Given the description of an element on the screen output the (x, y) to click on. 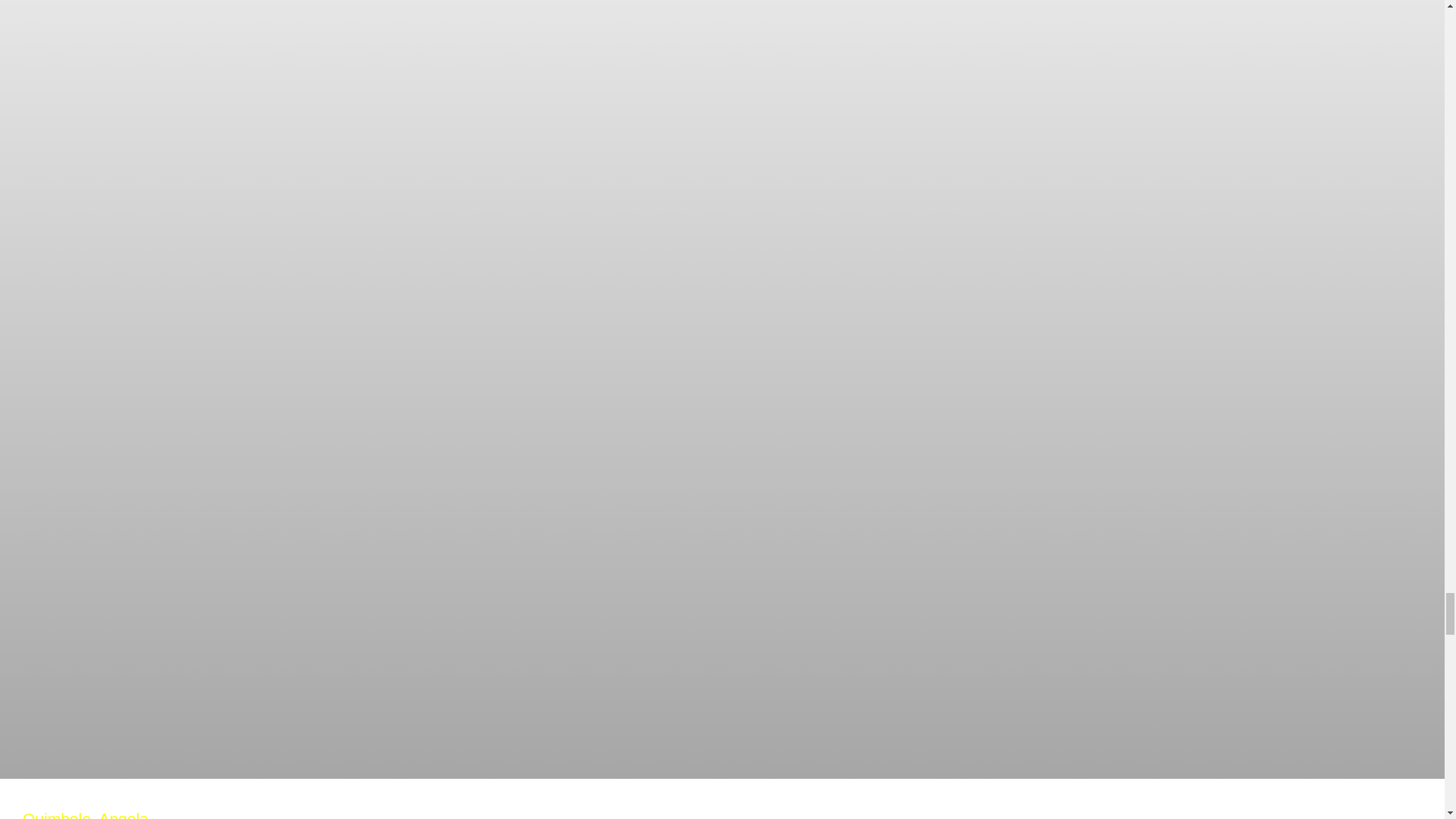
Quimbele, Angola (85, 814)
